Given the description of an element on the screen output the (x, y) to click on. 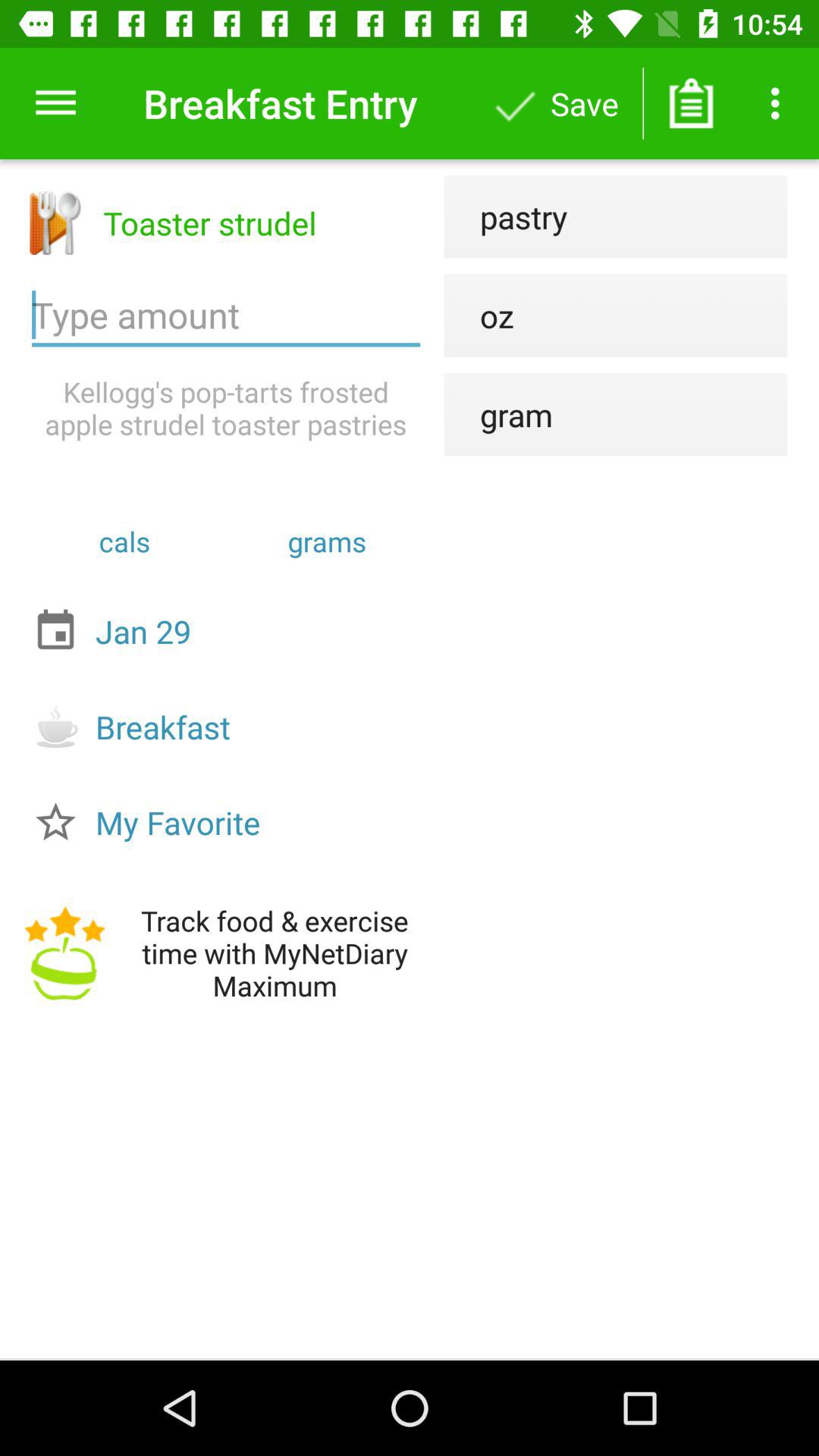
select icon above the breakfast icon (229, 631)
